Given the description of an element on the screen output the (x, y) to click on. 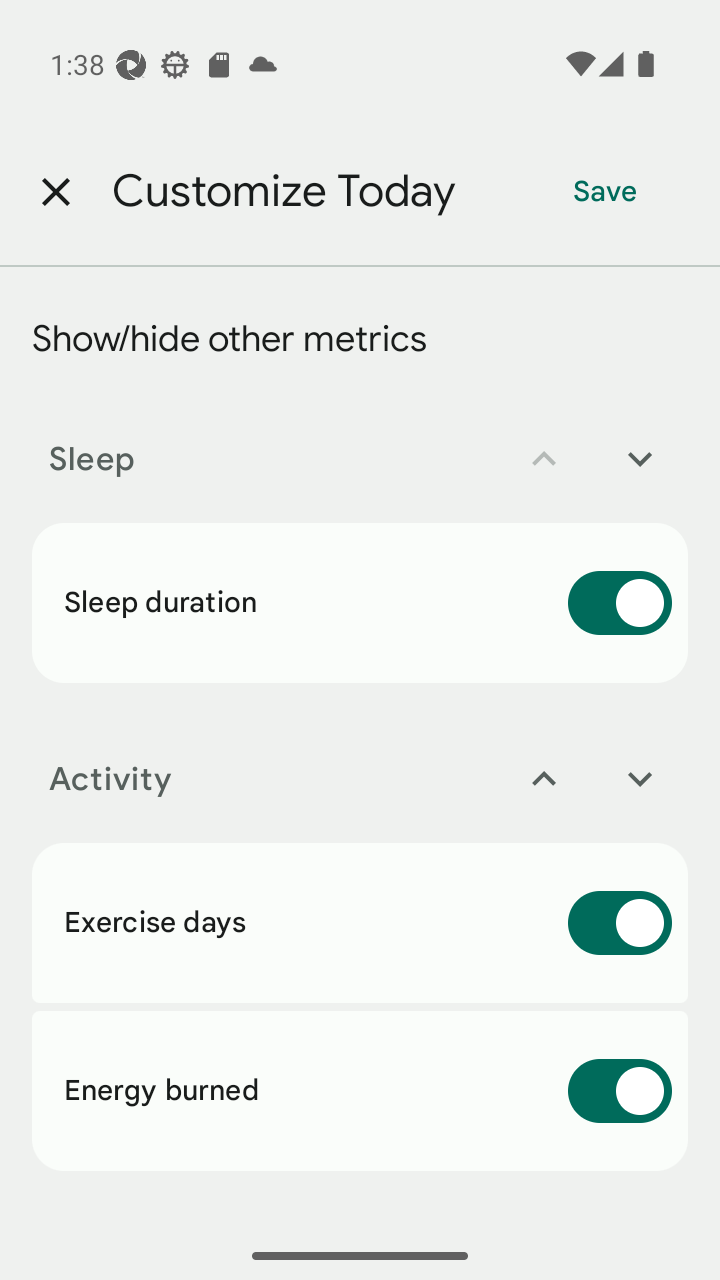
Close (55, 191)
Save (605, 191)
Move Sleep up (543, 458)
Move Sleep down (639, 458)
Sleep duration (359, 603)
Move Activity up (543, 778)
Move Activity down (639, 778)
Exercise days (359, 923)
Energy burned (359, 1091)
